Given the description of an element on the screen output the (x, y) to click on. 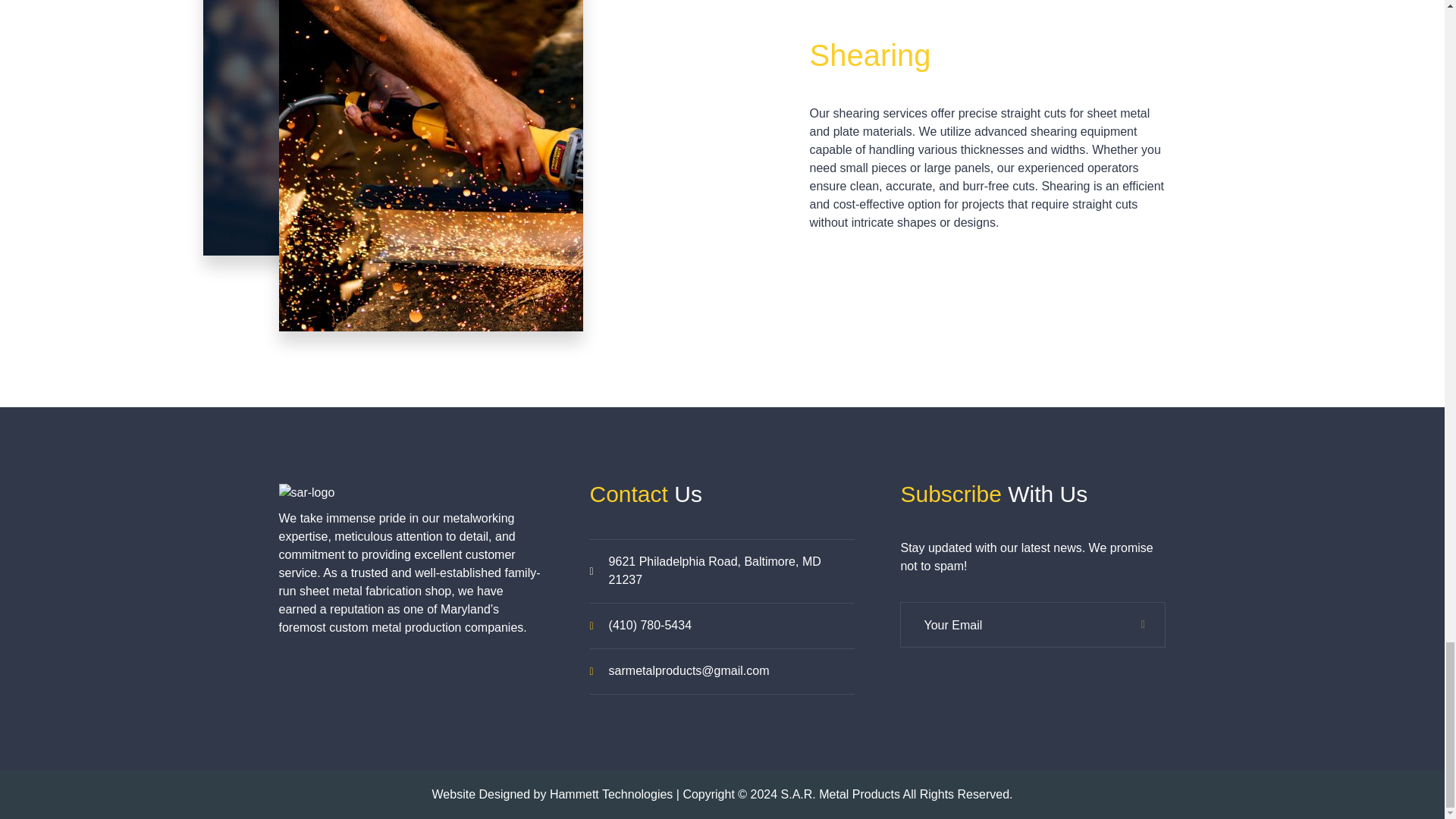
9621 Philadelphia Road, Baltimore, MD 21237 (714, 570)
SIGN ME UP! (1142, 624)
SAR Logo 2 - S.A.R Metal (306, 493)
Hammett Technologies (611, 793)
